Given the description of an element on the screen output the (x, y) to click on. 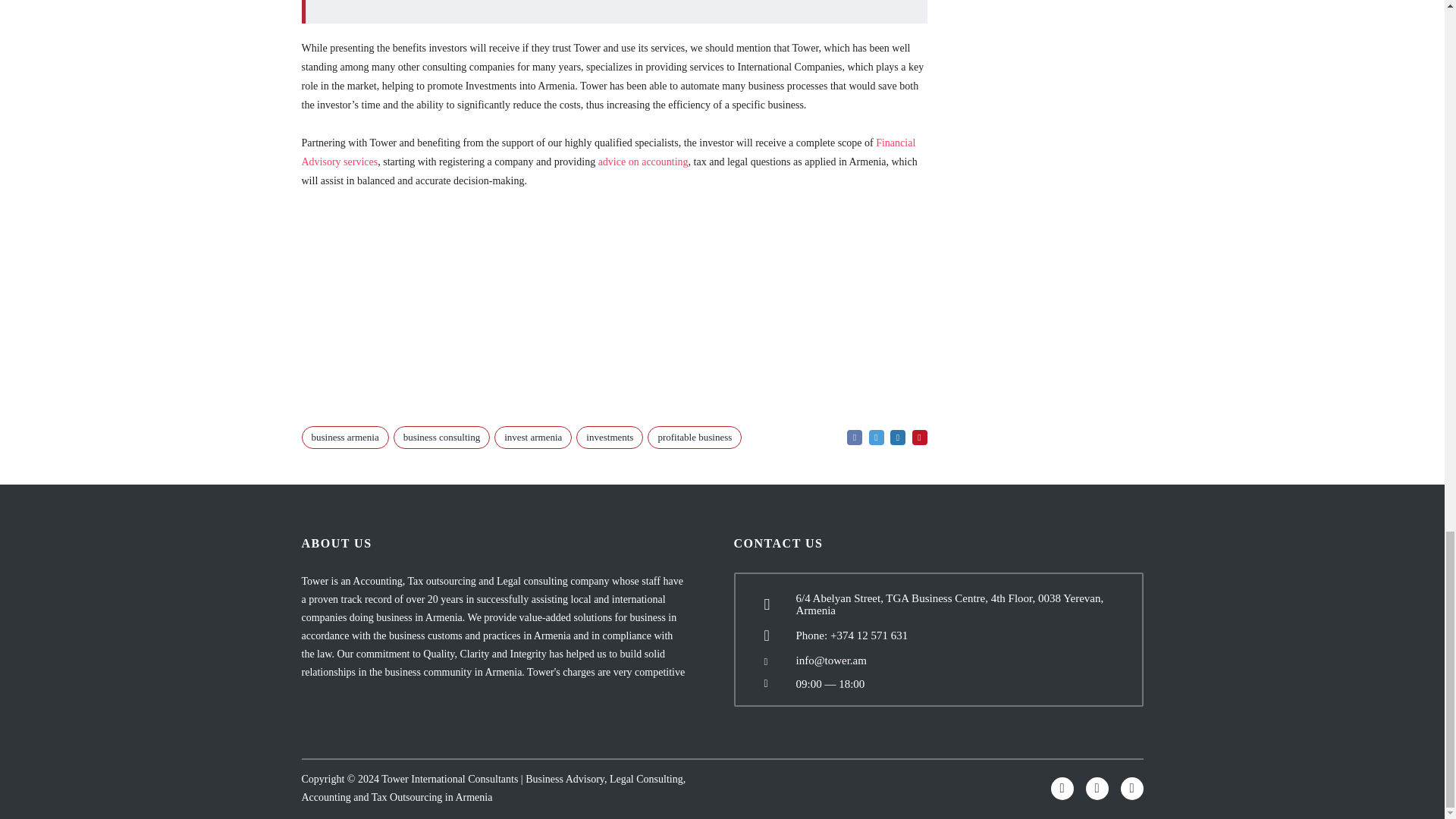
Financial Advisory services (608, 152)
Accounting services in Armenia (643, 161)
invest armenia (533, 436)
advice on accounting (643, 161)
business armenia (344, 436)
profitable business (694, 436)
business consulting (441, 436)
investments (609, 436)
